Given the description of an element on the screen output the (x, y) to click on. 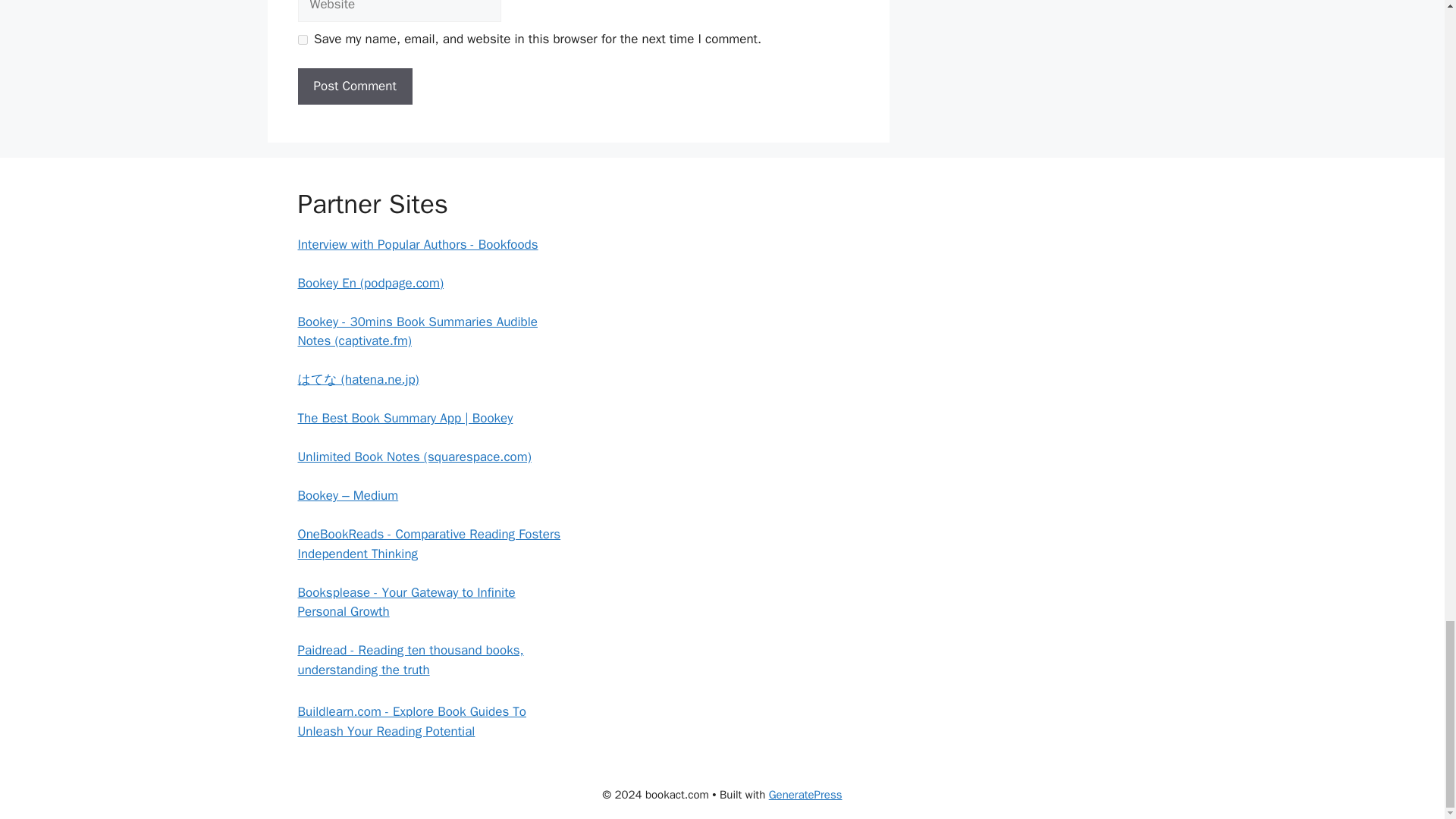
Post Comment (354, 85)
yes (302, 40)
